Given the description of an element on the screen output the (x, y) to click on. 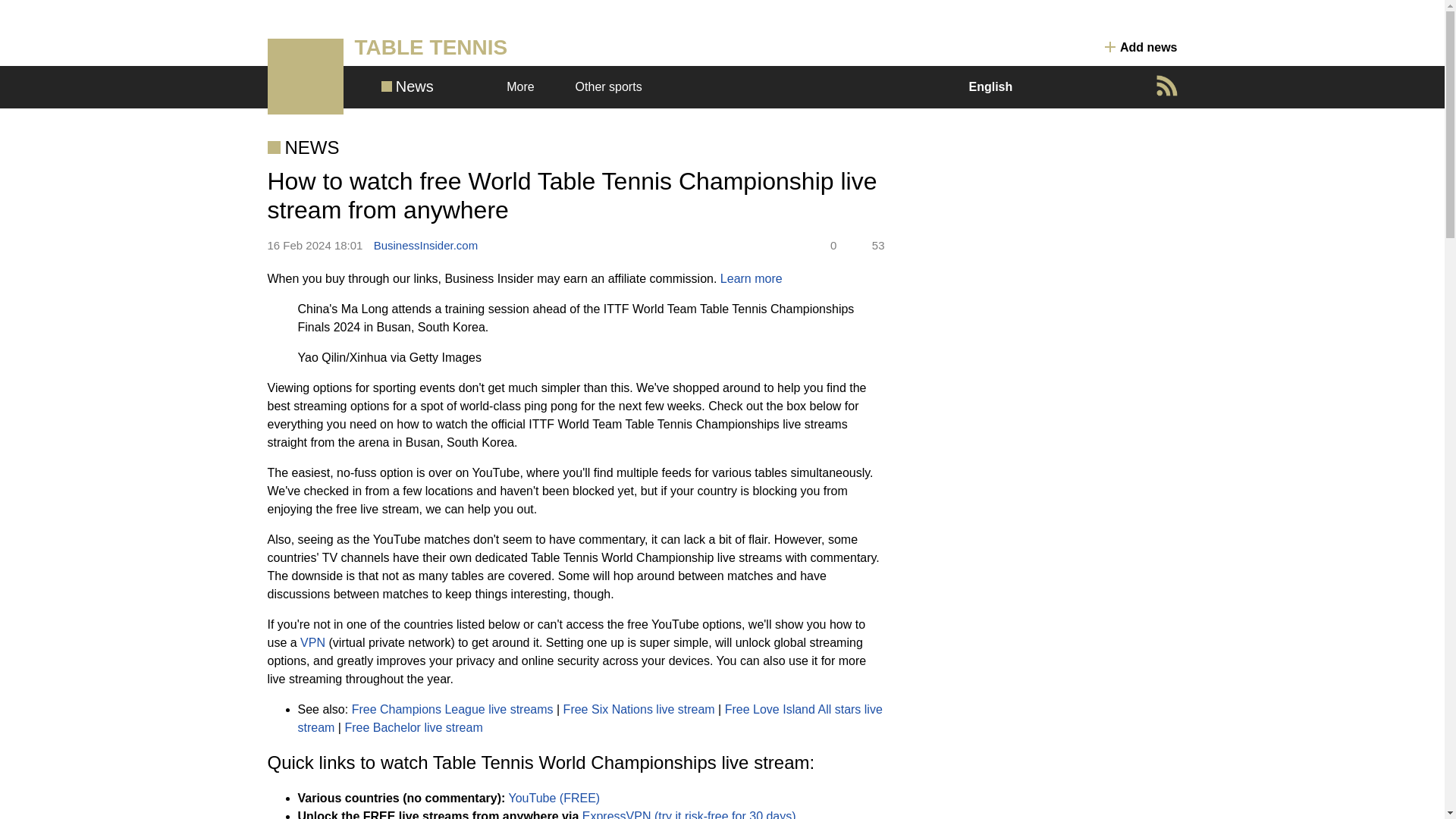
Add news (1141, 47)
News (406, 86)
Other sports (615, 86)
NEWS (302, 147)
RSS (1166, 85)
More (526, 86)
English (997, 86)
